Given the description of an element on the screen output the (x, y) to click on. 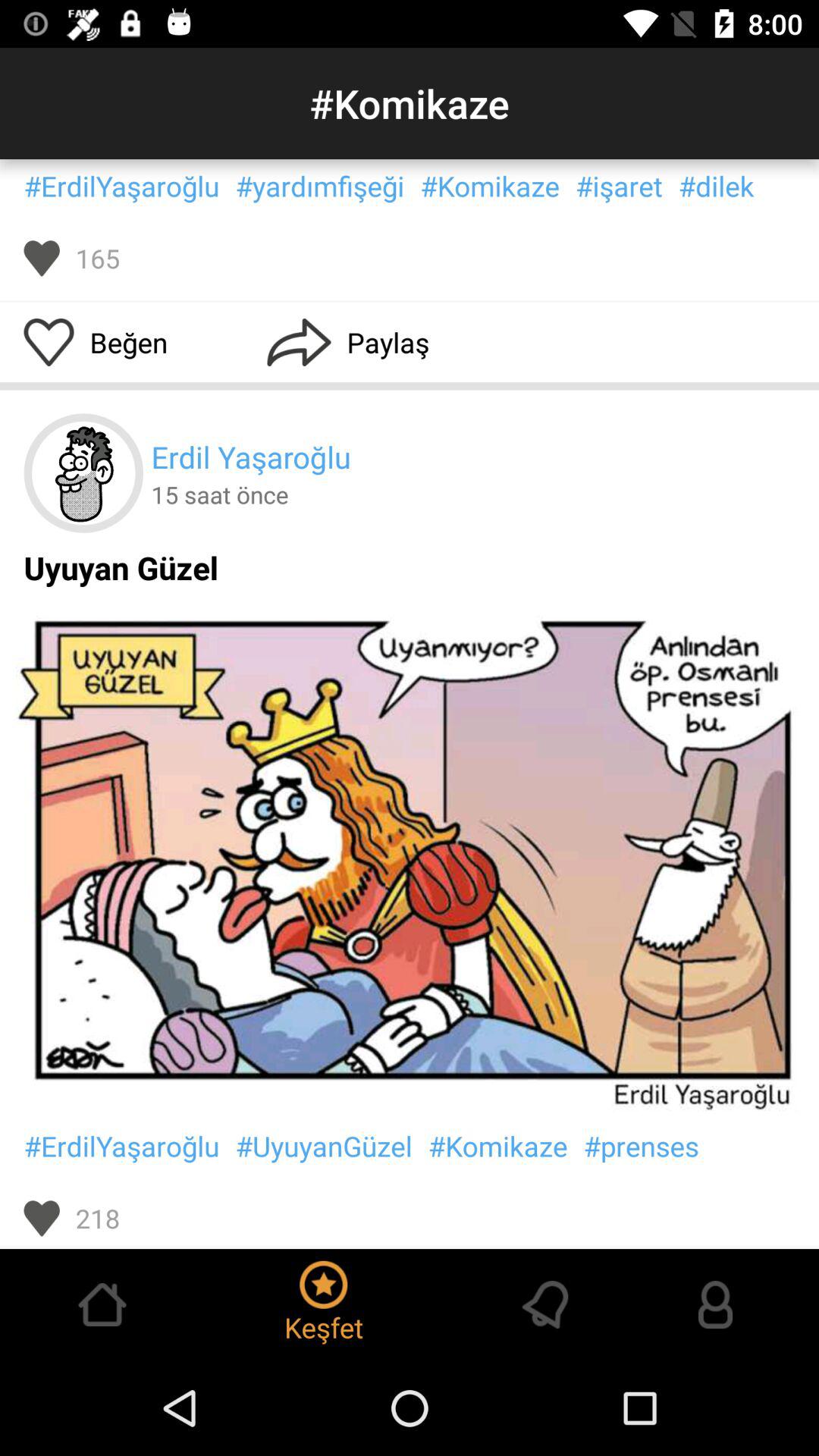
turn off the item to the left of the 165 item (41, 258)
